Given the description of an element on the screen output the (x, y) to click on. 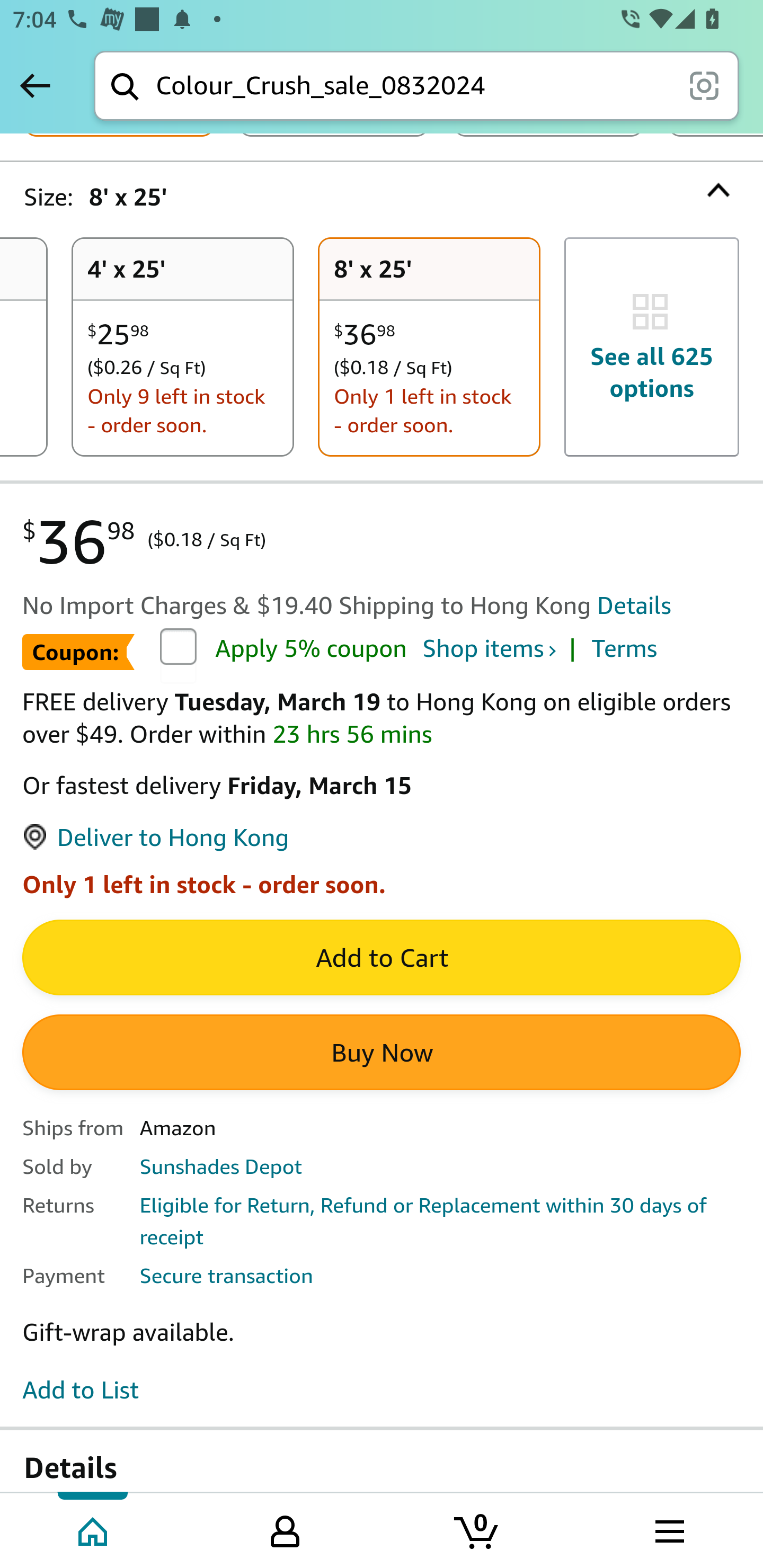
Back (35, 85)
Search Search Colour_Crush_sale_0832024 scan it (416, 85)
scan it (704, 85)
Details (633, 605)
Shop items (488, 650)
Terms (624, 650)
Deliver to Hong Kong (155, 838)
Add to Cart (381, 958)
Buy Now (381, 1054)
Sunshades Depot (220, 1167)
Add to List (80, 1391)
Home Tab 1 of 4 (94, 1529)
Your Amazon.com Tab 2 of 4 (285, 1529)
Cart 0 item Tab 3 of 4 0 (477, 1529)
Browse menu Tab 4 of 4 (668, 1529)
